Given the description of an element on the screen output the (x, y) to click on. 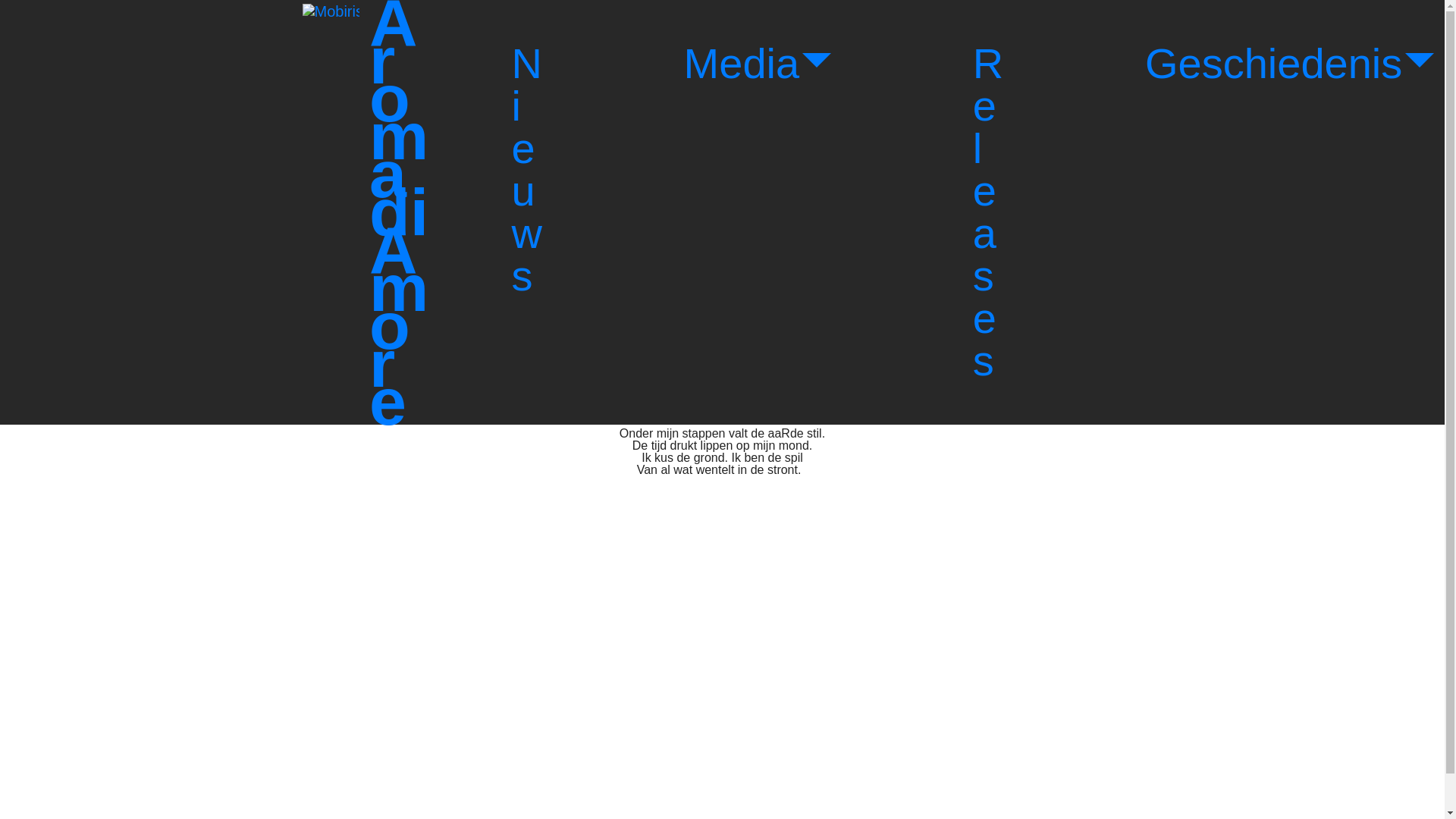
Nieuws Element type: text (526, 170)
Aroma di Amore Element type: text (398, 211)
Releases Element type: text (987, 212)
Media Element type: text (756, 63)
